Given the description of an element on the screen output the (x, y) to click on. 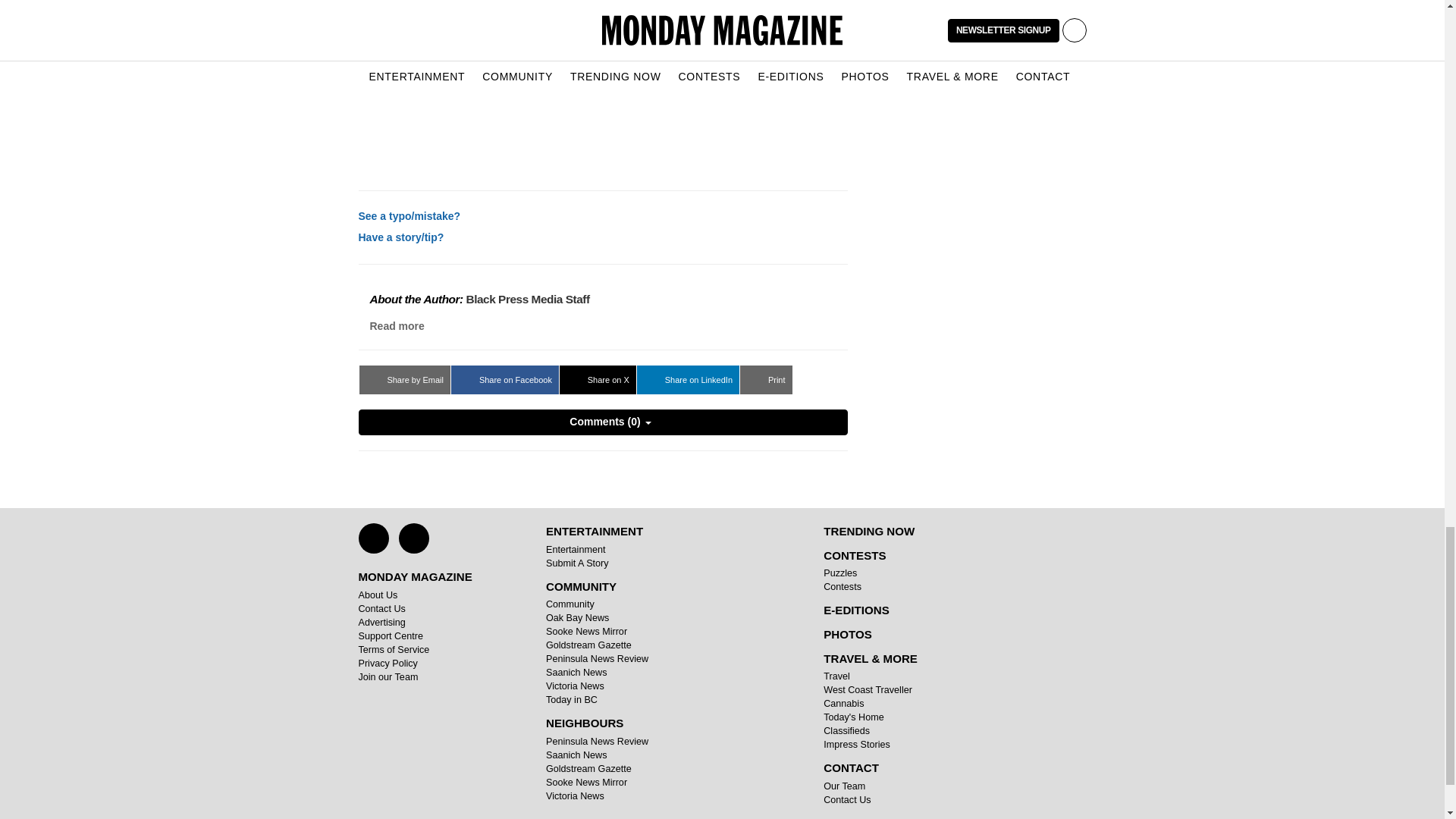
Instagram (413, 538)
Show Comments (602, 421)
X (373, 538)
